Given the description of an element on the screen output the (x, y) to click on. 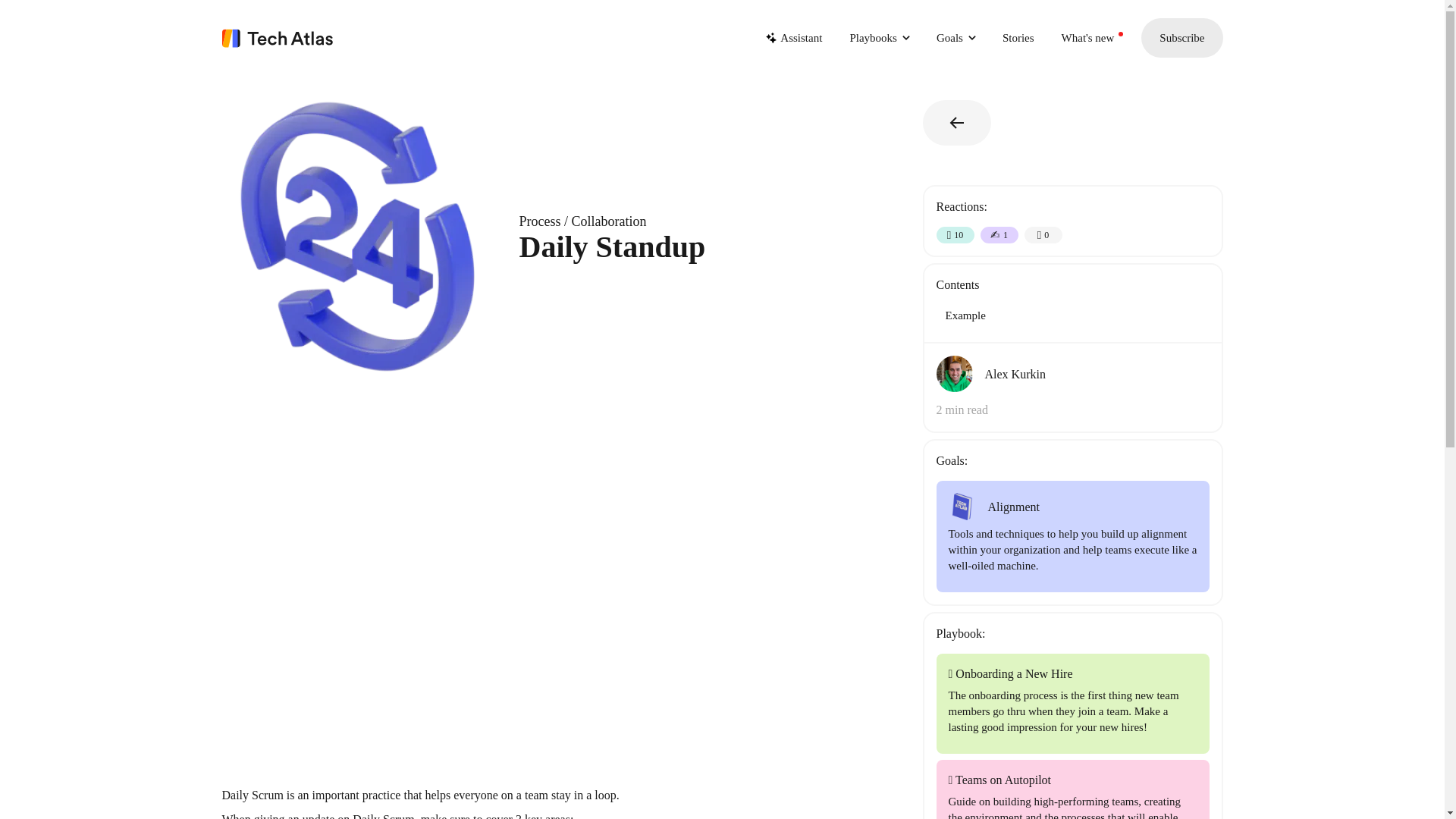
What's new (1088, 37)
Subscribe (1182, 37)
Collaboration (609, 221)
Process (539, 221)
Stories (1018, 37)
Assistant (801, 37)
